Given the description of an element on the screen output the (x, y) to click on. 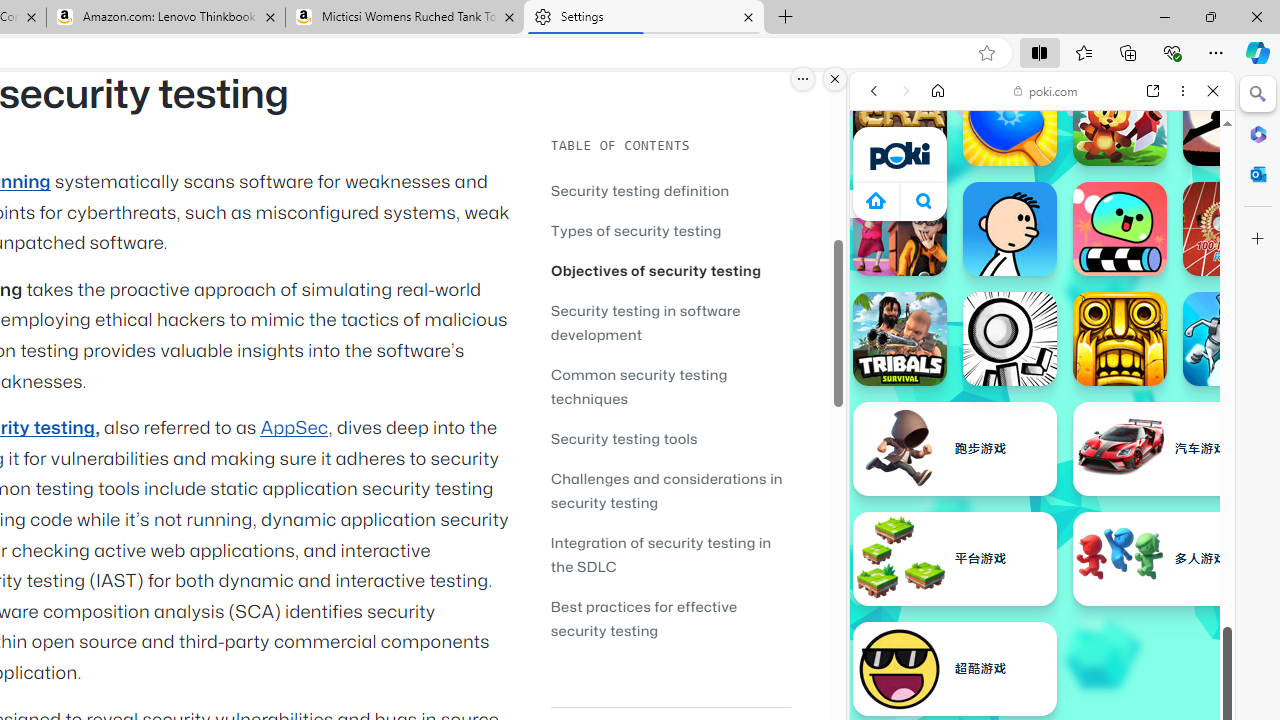
AppSec (293, 428)
Security testing tools (670, 438)
Shooting Games (1042, 518)
Security testing definition (639, 190)
Temple Run 2 (1119, 338)
